Given the description of an element on the screen output the (x, y) to click on. 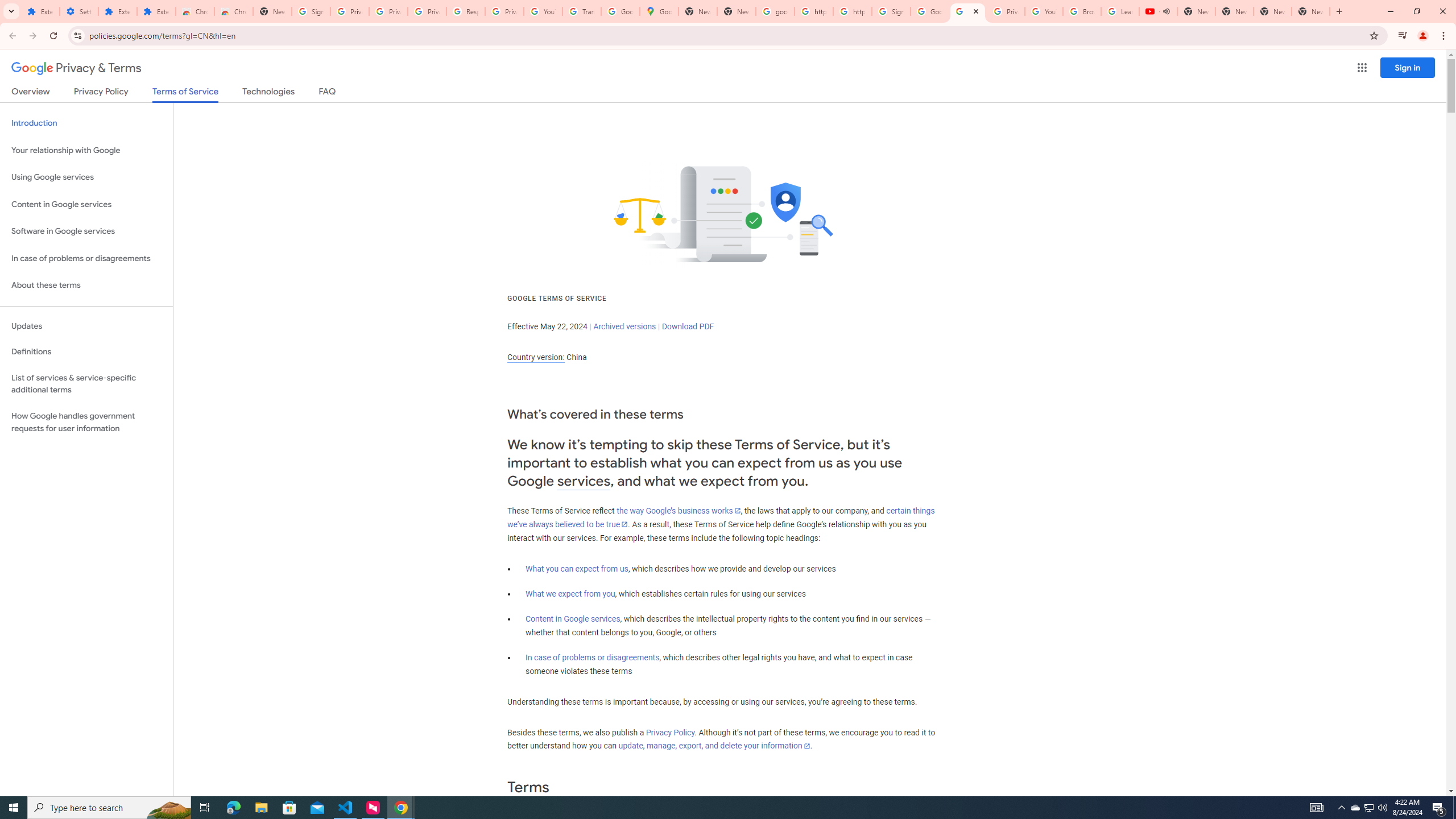
What you can expect from us (576, 568)
Extensions (117, 11)
Sign in - Google Accounts (890, 11)
New Tab (1311, 11)
Chrome Web Store - Themes (233, 11)
https://scholar.google.com/ (852, 11)
Software in Google services (86, 230)
YouTube (1043, 11)
